Given the description of an element on the screen output the (x, y) to click on. 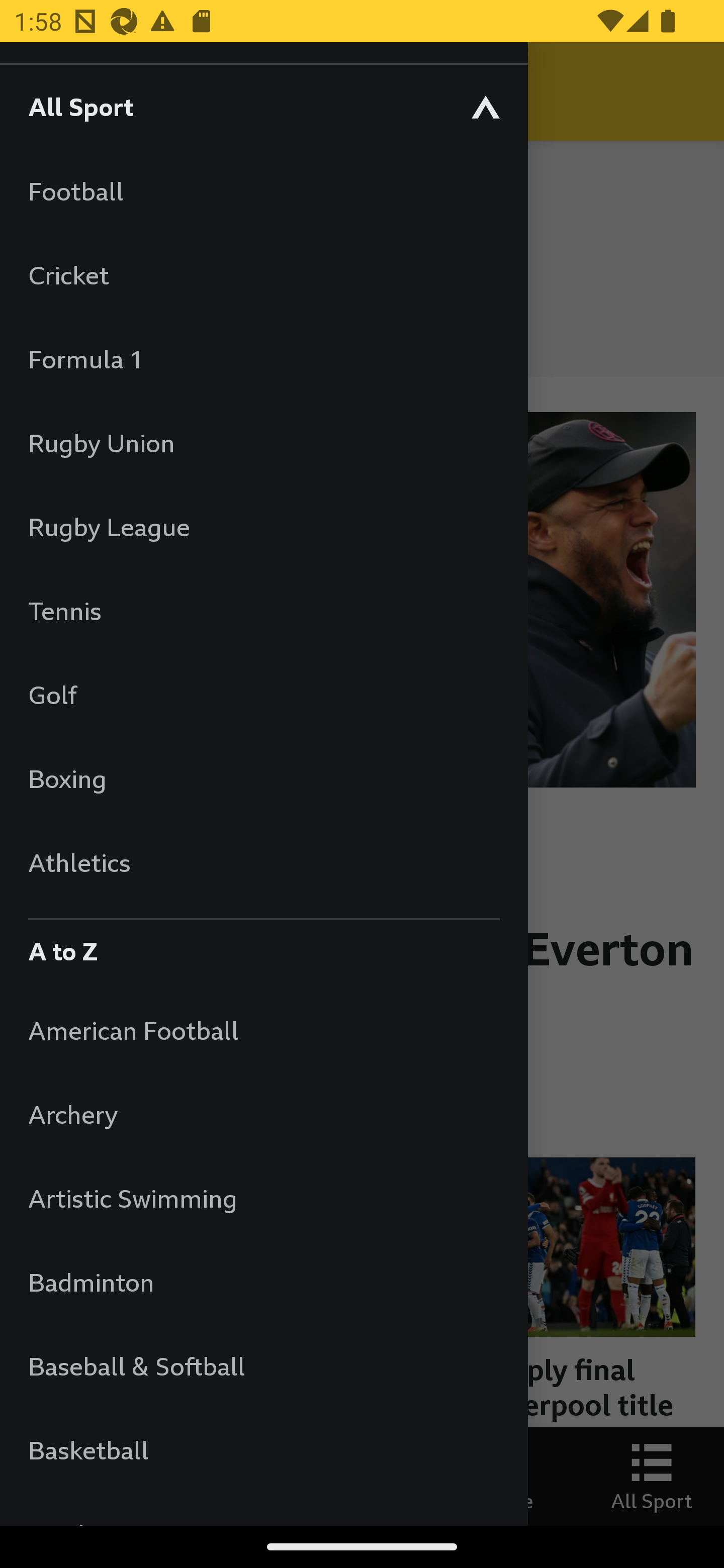
All Sport (263, 105)
Football (263, 190)
Cricket (263, 274)
Formula 1 (263, 358)
Rugby Union (263, 441)
Rugby League (263, 526)
Tennis (263, 609)
Golf (263, 694)
Boxing (263, 778)
Athletics (263, 862)
A to Z (263, 945)
American Football (263, 1029)
Archery (263, 1114)
Artistic Swimming (263, 1197)
Badminton (263, 1282)
Baseball & Softball (263, 1365)
Basketball (263, 1450)
